Given the description of an element on the screen output the (x, y) to click on. 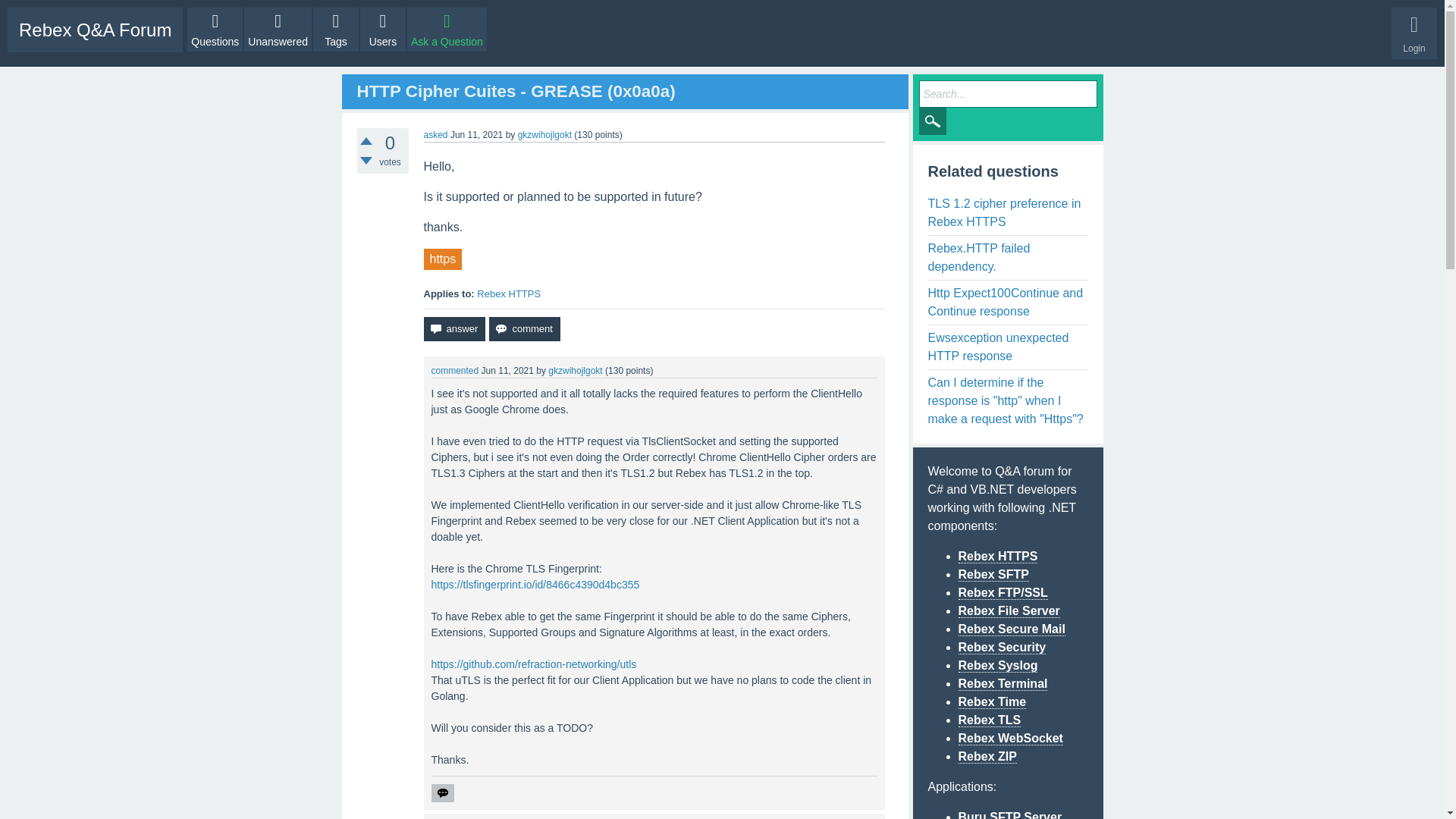
https (442, 259)
Search (932, 121)
Ask a Question (446, 29)
comment (524, 328)
Answer this question (453, 328)
answer (453, 328)
Add a comment on this question (524, 328)
Unanswered (277, 29)
reply (441, 792)
reply (441, 792)
